Given the description of an element on the screen output the (x, y) to click on. 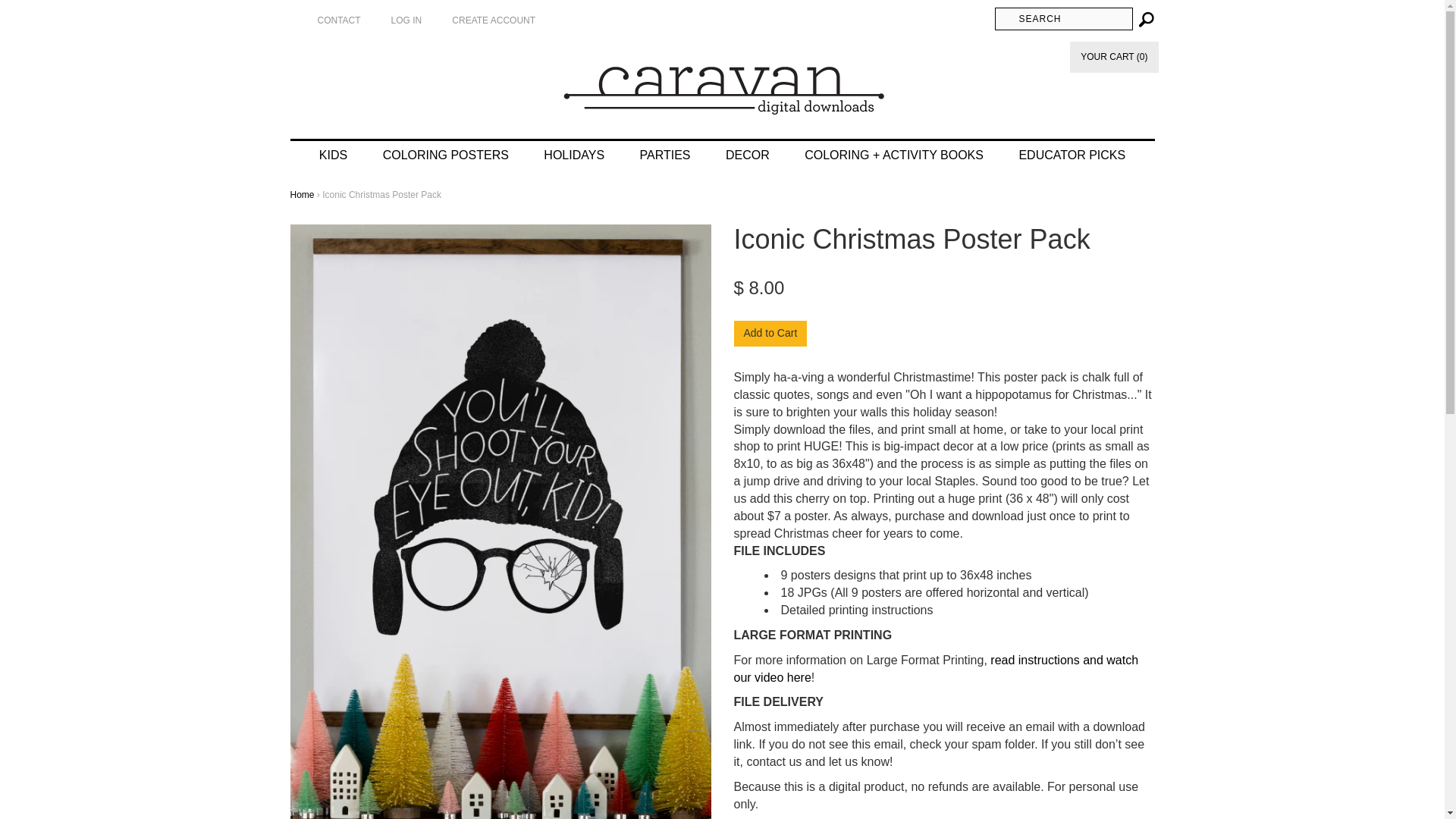
KIDS (333, 155)
PARTIES (665, 155)
COLORING POSTERS (446, 155)
Home (721, 83)
Home (301, 194)
Add to Cart (770, 333)
EDUCATOR PICKS (1071, 155)
Search (1063, 18)
Back to the frontpage (301, 194)
Go (1143, 18)
read instructions and watch our video here (935, 668)
Add to Cart (770, 333)
HOLIDAYS (574, 155)
CONTACT (338, 20)
CREATE ACCOUNT (493, 20)
